Given the description of an element on the screen output the (x, y) to click on. 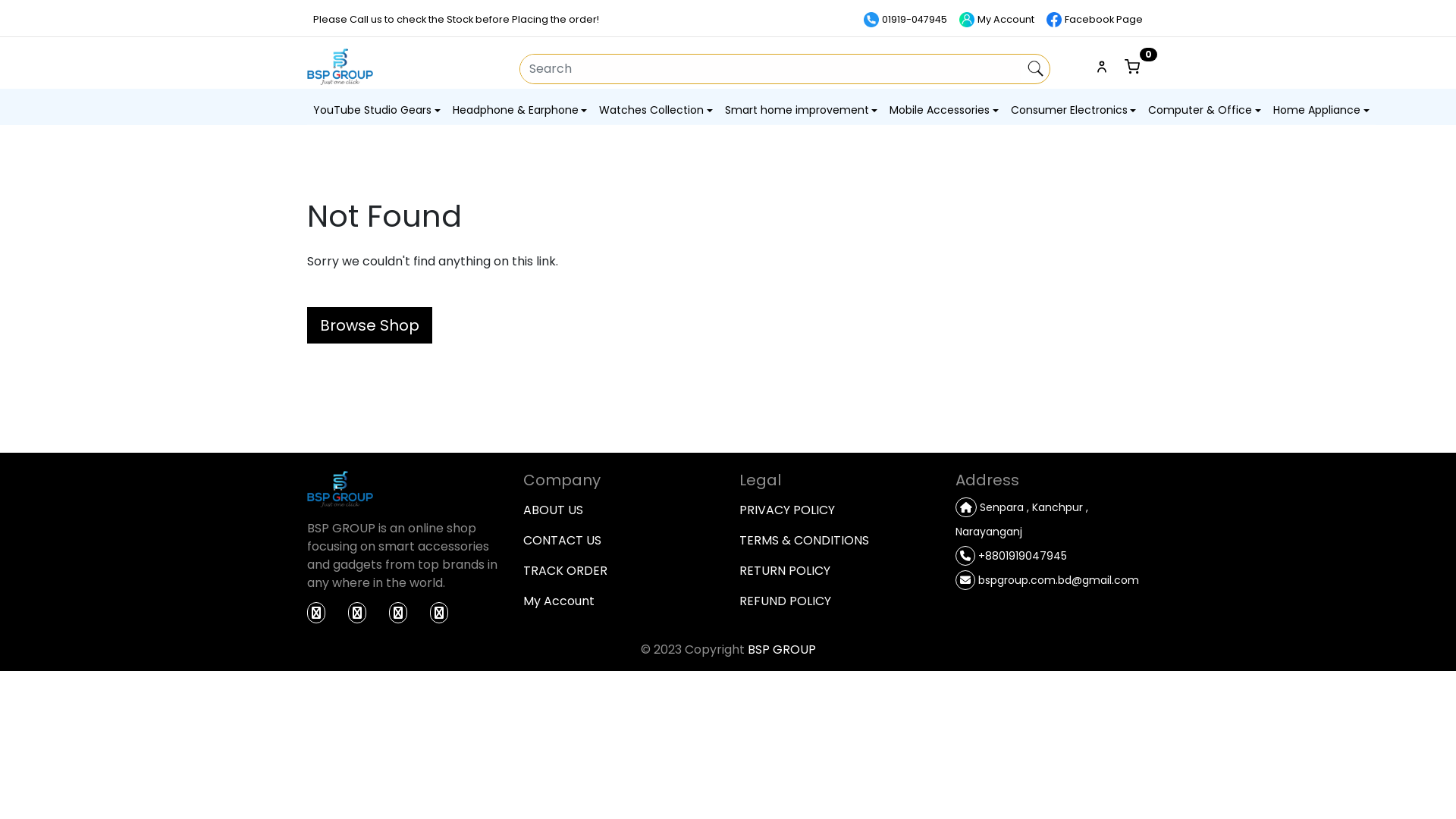
01919-047945 Element type: text (905, 20)
Smart home improvement Element type: text (801, 110)
Please Call us to check the Stock before Placing the order! Element type: text (456, 20)
Facebook Page Element type: text (1094, 20)
0 Element type: text (1133, 66)
Watches Collection Element type: text (655, 110)
Browse Shop Element type: text (369, 325)
Computer & Office Element type: text (1204, 110)
TERMS & CONDITIONS Element type: text (835, 540)
Consumer Electronics Element type: text (1073, 110)
CONTACT US Element type: text (619, 540)
REFUND POLICY Element type: text (835, 601)
PRIVACY POLICY Element type: text (835, 510)
YouTube Studio Gears Element type: text (376, 110)
My Account Element type: text (996, 20)
Headphone & Earphone Element type: text (519, 110)
Home Appliance Element type: text (1321, 110)
BSP GROUP Element type: text (781, 649)
ABOUT US Element type: text (619, 510)
BSP GROUP Element type: hover (340, 66)
BSP GROUP Element type: hover (340, 488)
Search Element type: text (1034, 68)
My Account Element type: text (619, 601)
Mobile Accessories Element type: text (943, 110)
RETURN POLICY Element type: text (835, 570)
TRACK ORDER Element type: text (619, 570)
